Given the description of an element on the screen output the (x, y) to click on. 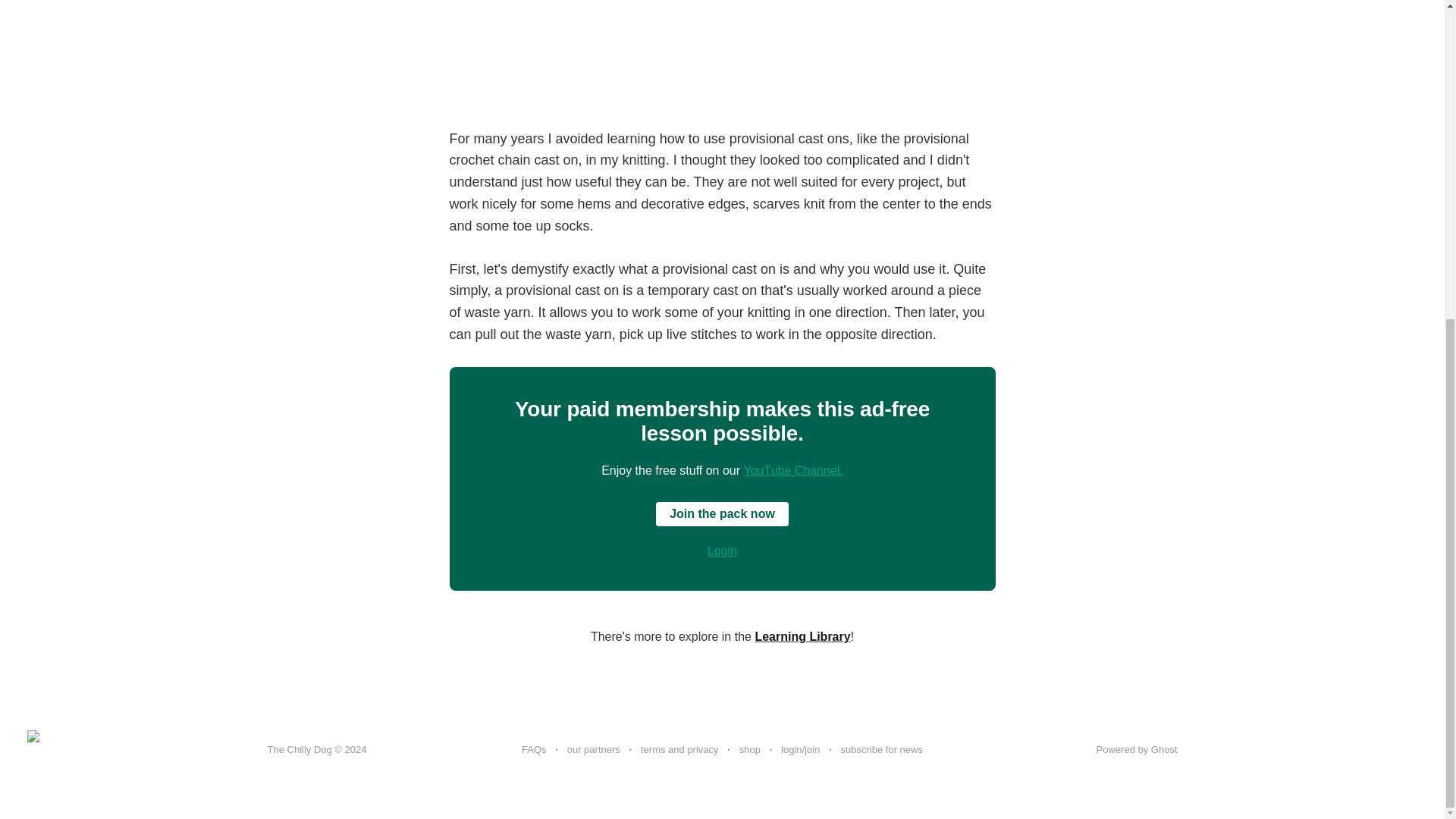
shop (749, 750)
FAQs (534, 750)
YouTube Channel. (792, 470)
Login (721, 550)
our partners (593, 750)
subscribe for news (882, 750)
Join the pack now (722, 514)
terms and privacy (679, 750)
Learning Library (802, 635)
Powered by Ghost (1136, 749)
